Given the description of an element on the screen output the (x, y) to click on. 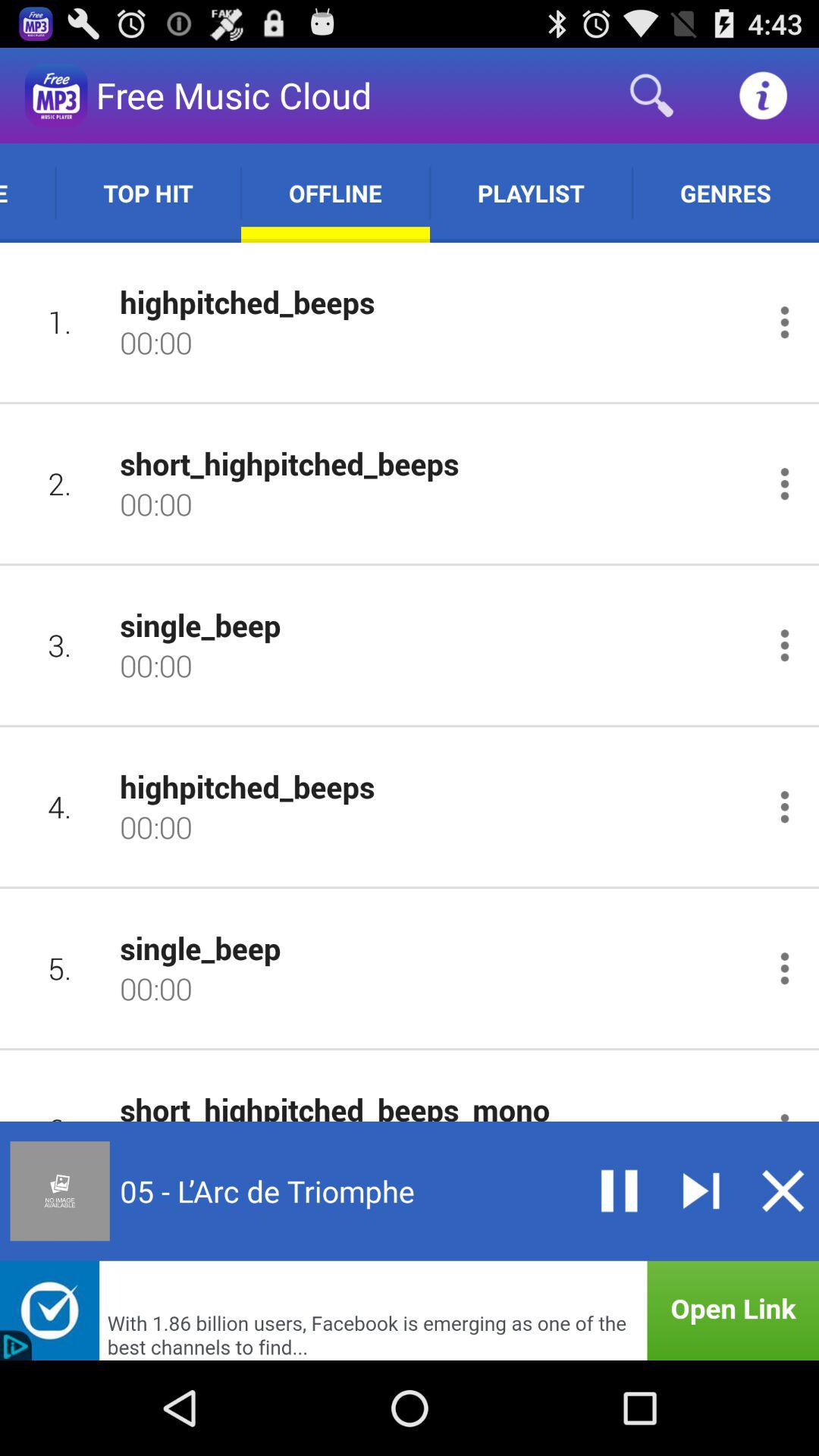
more option (784, 968)
